Given the description of an element on the screen output the (x, y) to click on. 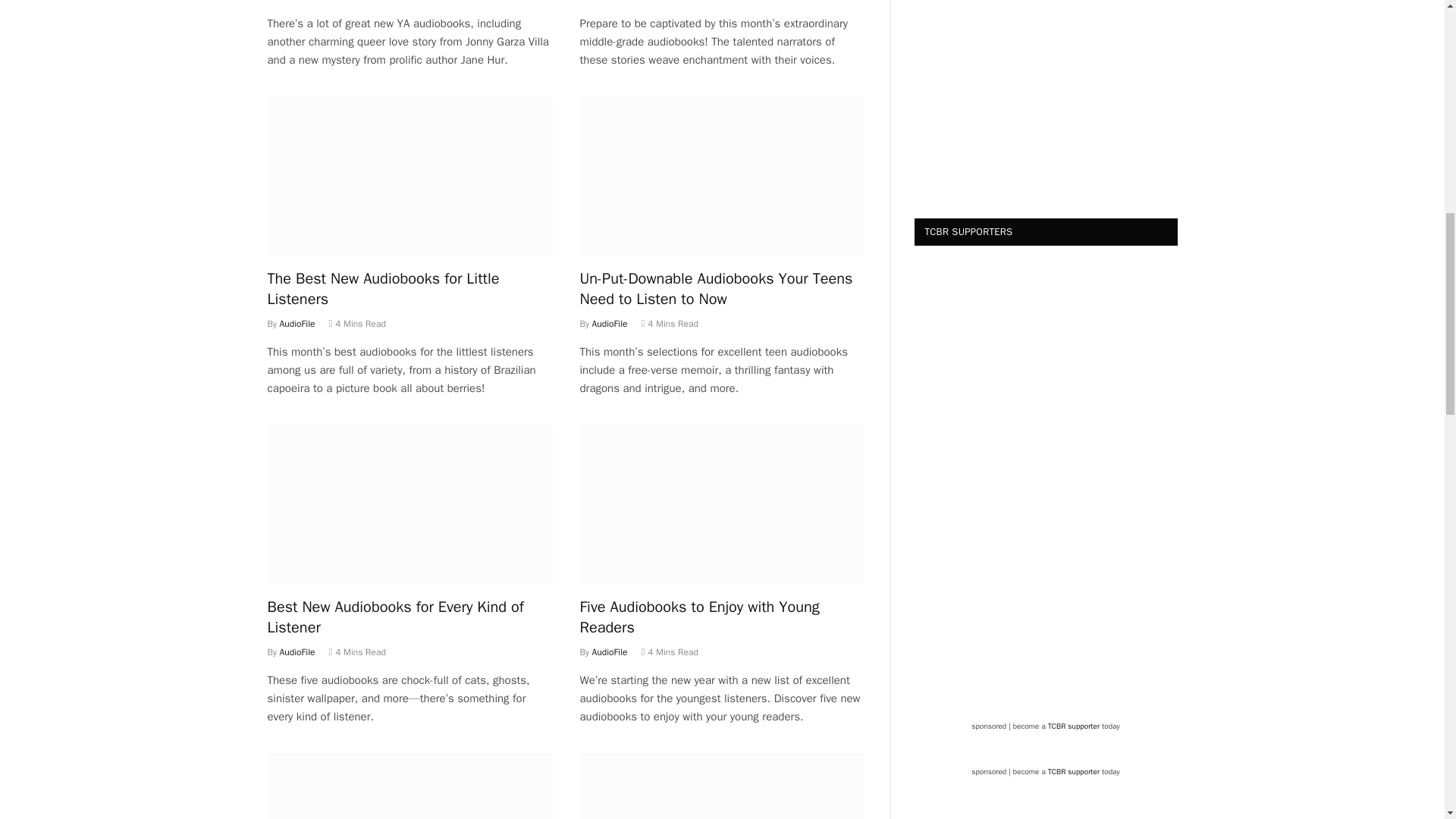
Posts by AudioFile (297, 323)
Un-Put-Downable Audiobooks Your Teens Need to Listen to Now (721, 176)
Posts by AudioFile (297, 0)
Posts by AudioFile (609, 0)
The Best New Audiobooks for Little Listeners (408, 176)
